Given the description of an element on the screen output the (x, y) to click on. 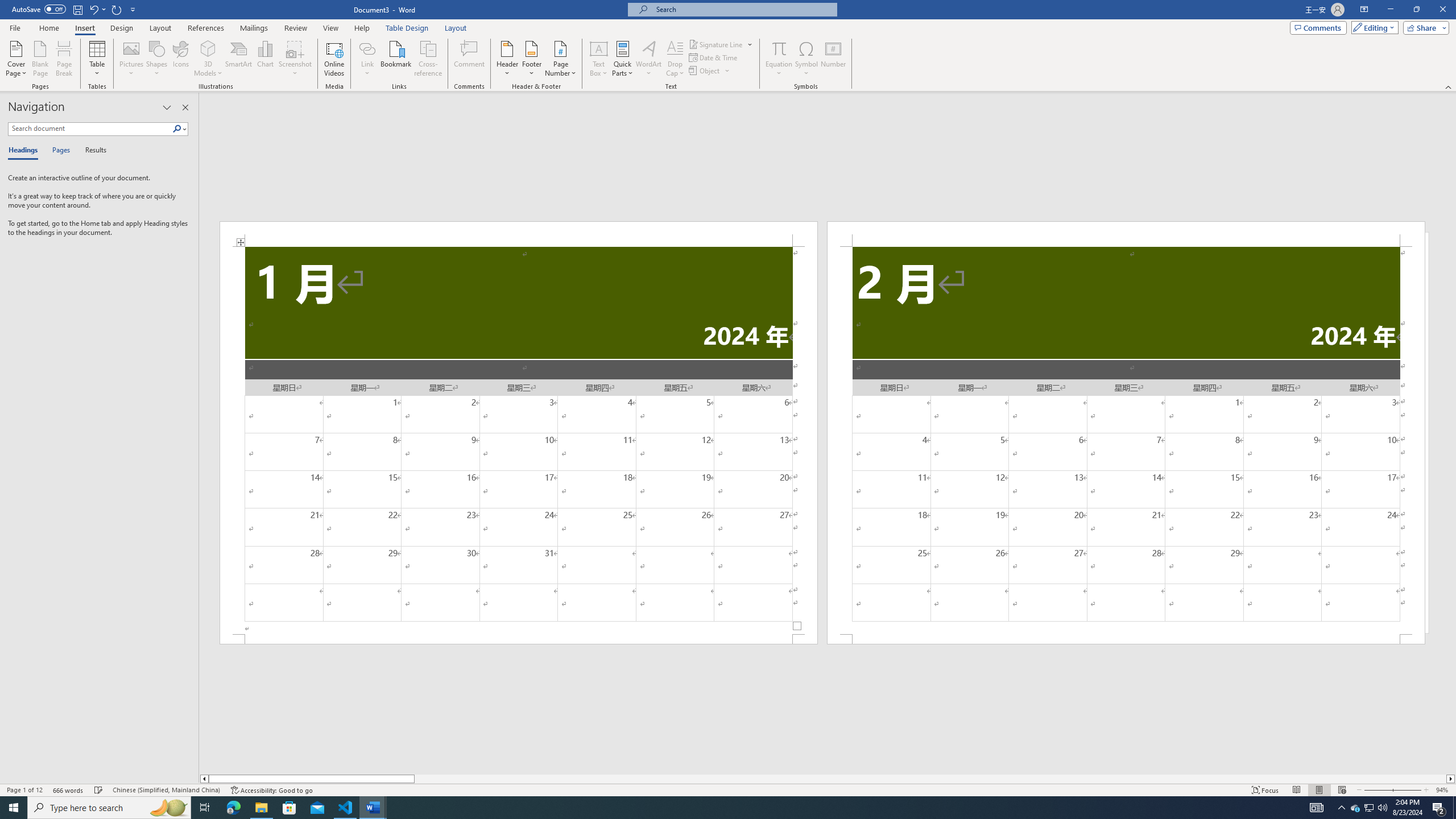
Header -Section 2- (1126, 233)
Web Layout (1342, 790)
Number... (833, 58)
Date & Time... (714, 56)
Link (367, 58)
Object... (705, 69)
Class: NetUIScrollBar (827, 778)
WordArt (648, 58)
Comments (1318, 27)
Layout (455, 28)
Signature Line (716, 44)
AutoSave (38, 9)
Bookmark... (396, 58)
Help (361, 28)
